Given the description of an element on the screen output the (x, y) to click on. 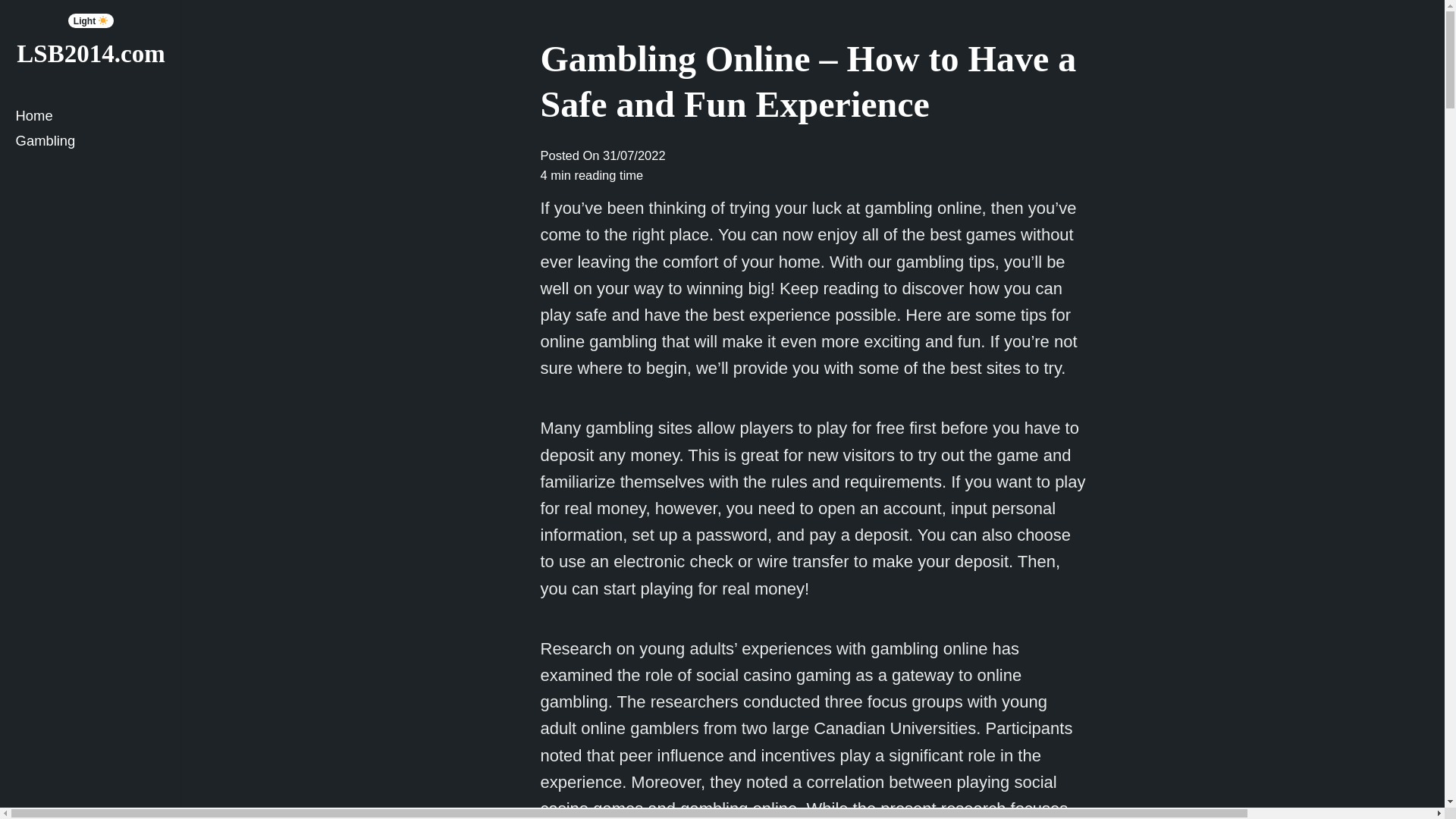
Gambling (90, 140)
Home (90, 115)
LSB2014.com (90, 53)
